Given the description of an element on the screen output the (x, y) to click on. 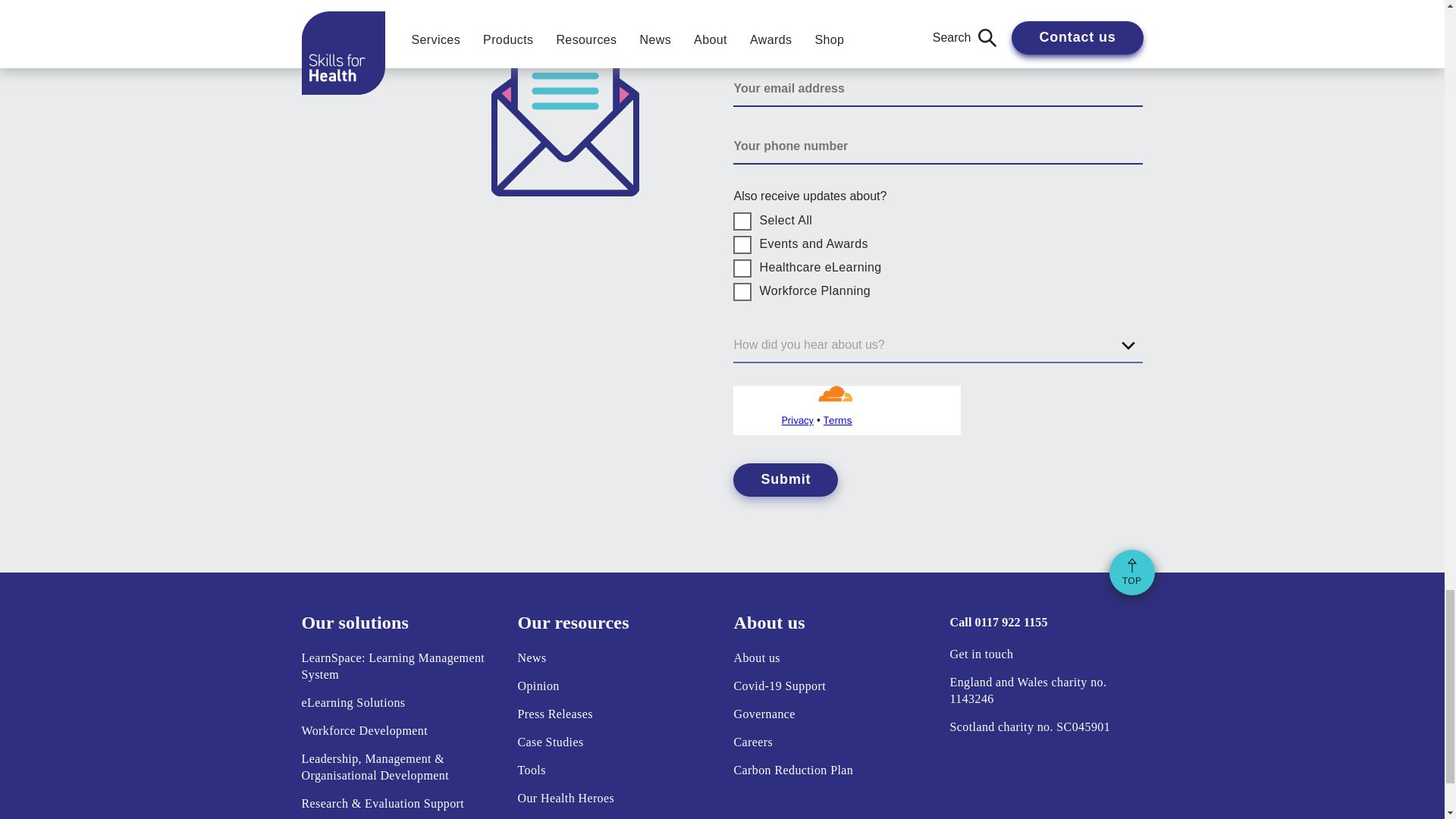
Submit (785, 479)
